Given the description of an element on the screen output the (x, y) to click on. 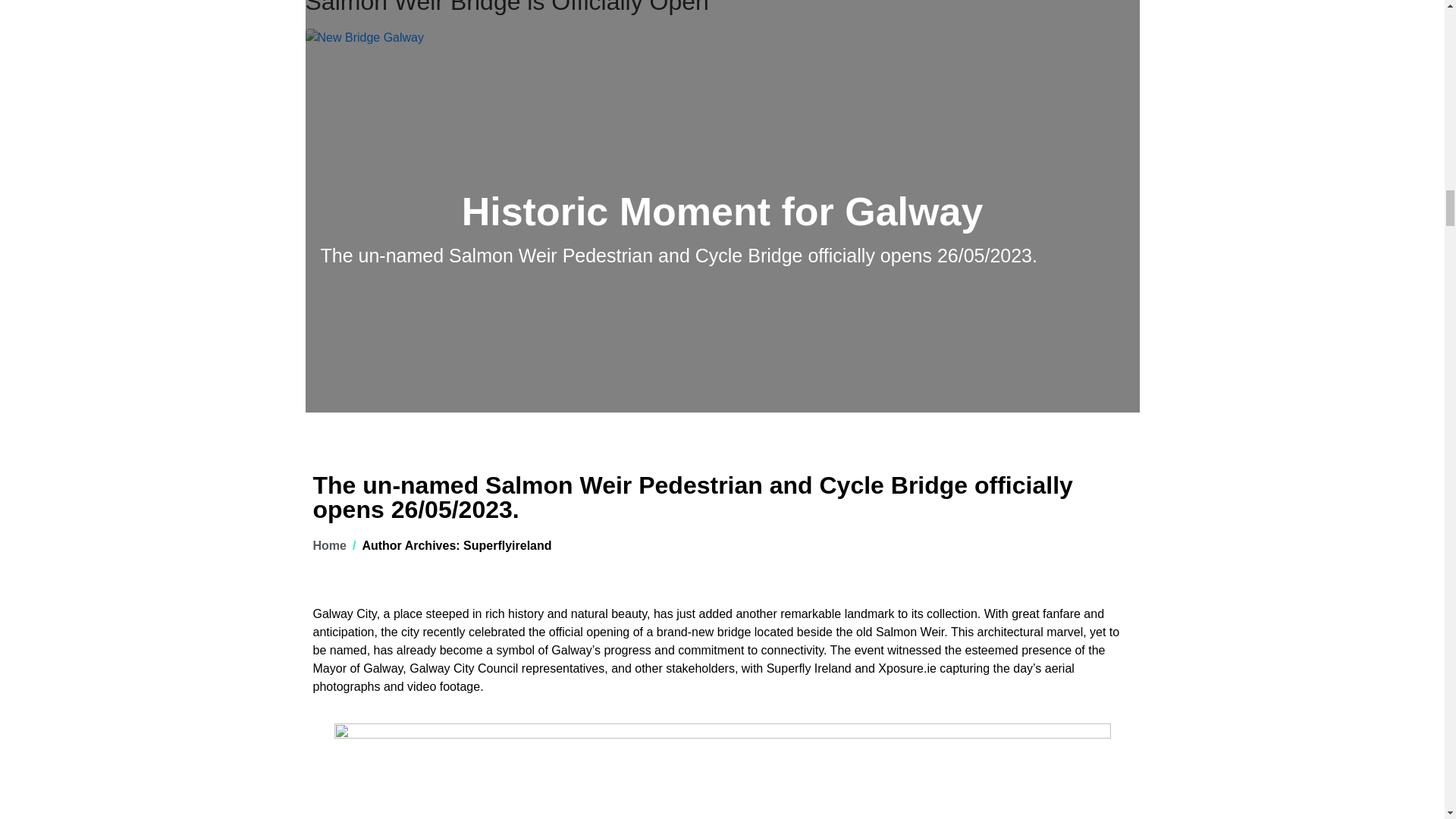
Salmon Weir Bridge is Officially Open (363, 37)
Home (329, 545)
Salmon Weir Bridge is Officially Open (505, 7)
Salmon Weir Bridge is Officially Open (505, 7)
